Given the description of an element on the screen output the (x, y) to click on. 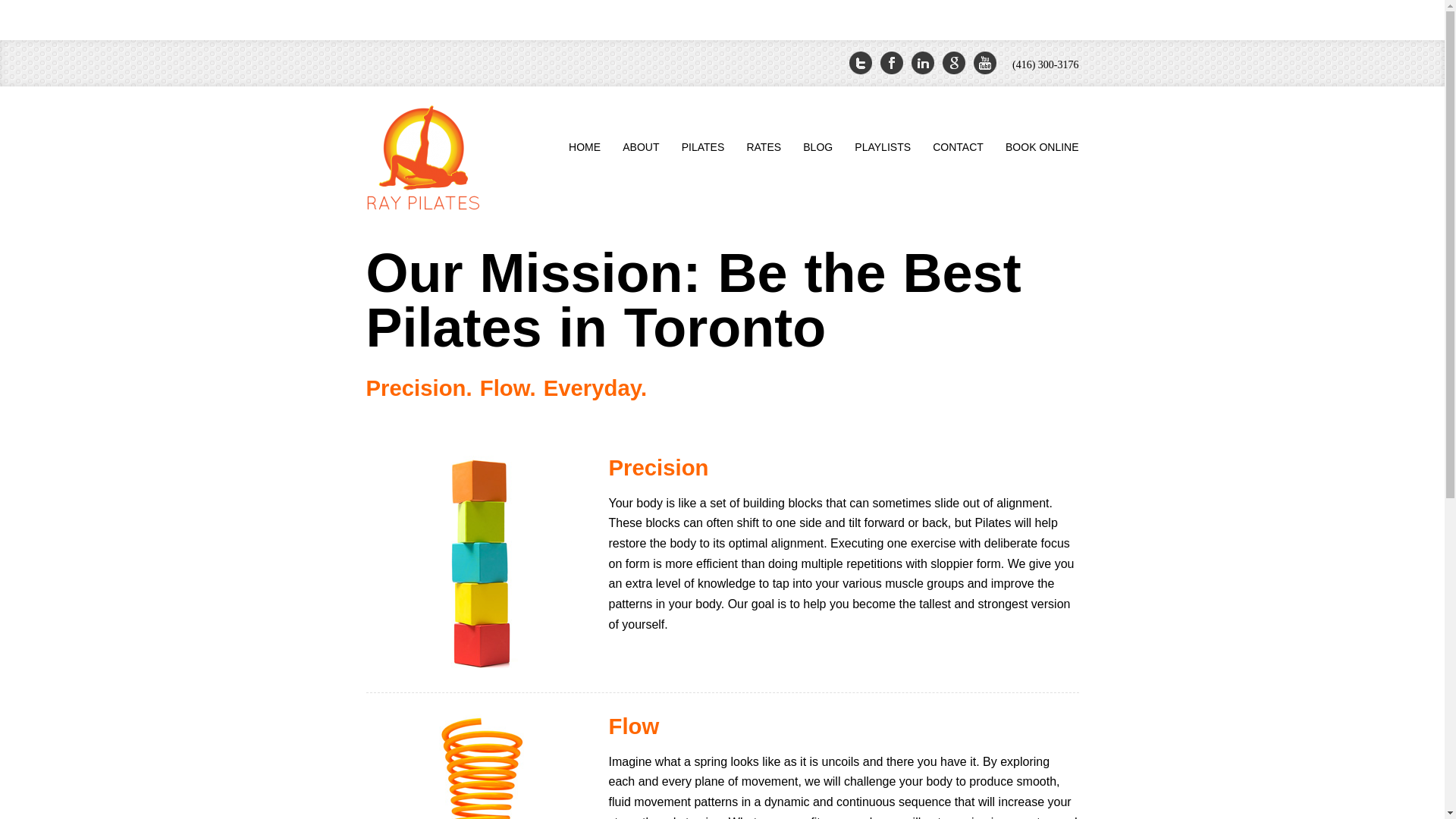
linkedin (922, 63)
twitter (860, 63)
RATES (763, 146)
PLAYLISTS (882, 146)
BOOK ONLINE (1039, 146)
google (954, 63)
youtube (984, 63)
facebook (891, 63)
CONTACT (957, 146)
HOME (584, 146)
BLOG (817, 146)
Ray Pilates (425, 158)
PILATES (703, 146)
ABOUT (640, 146)
